Given the description of an element on the screen output the (x, y) to click on. 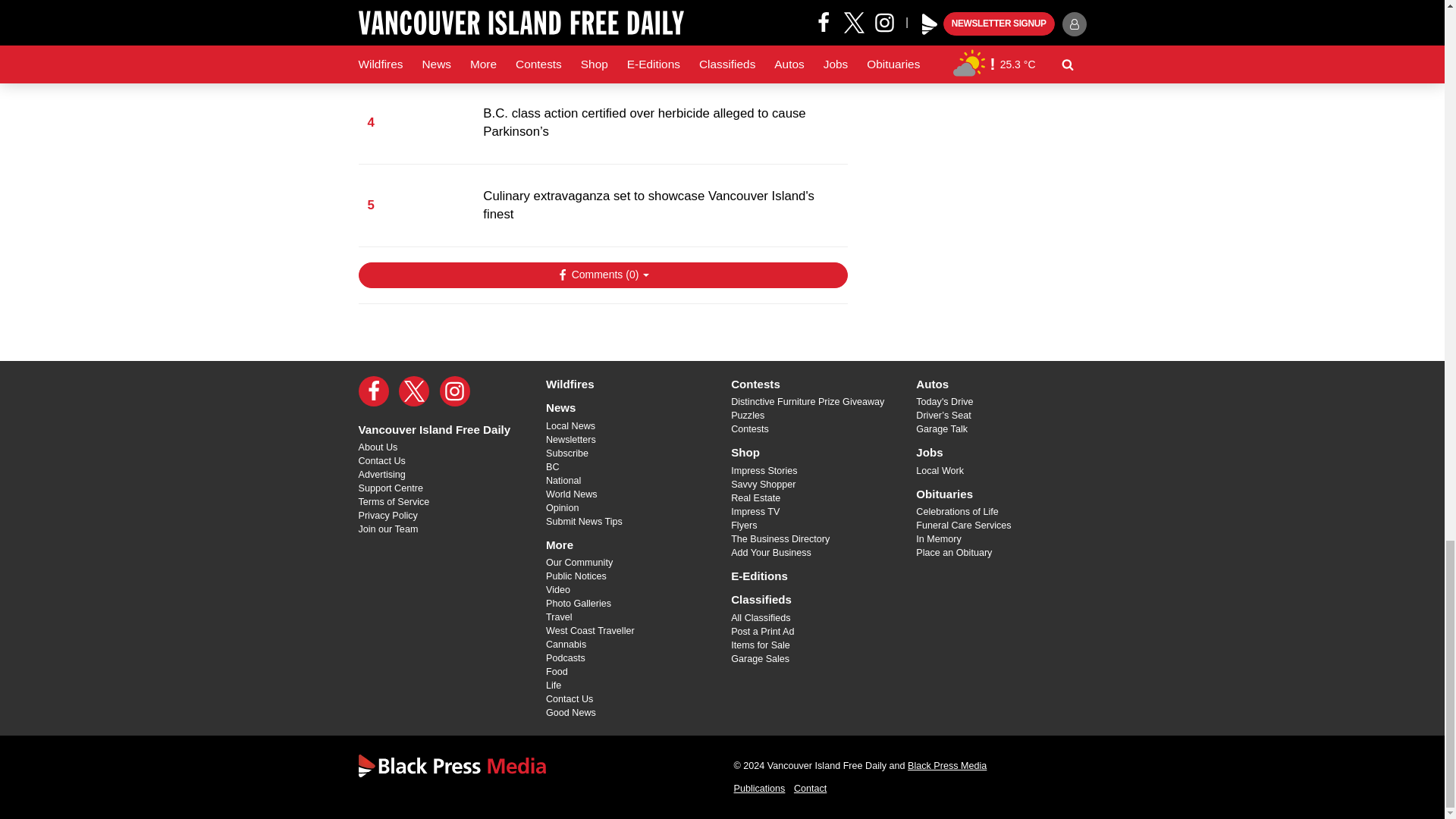
X (413, 390)
Instagram (454, 390)
Show Comments (602, 275)
Facebook (373, 390)
